Given the description of an element on the screen output the (x, y) to click on. 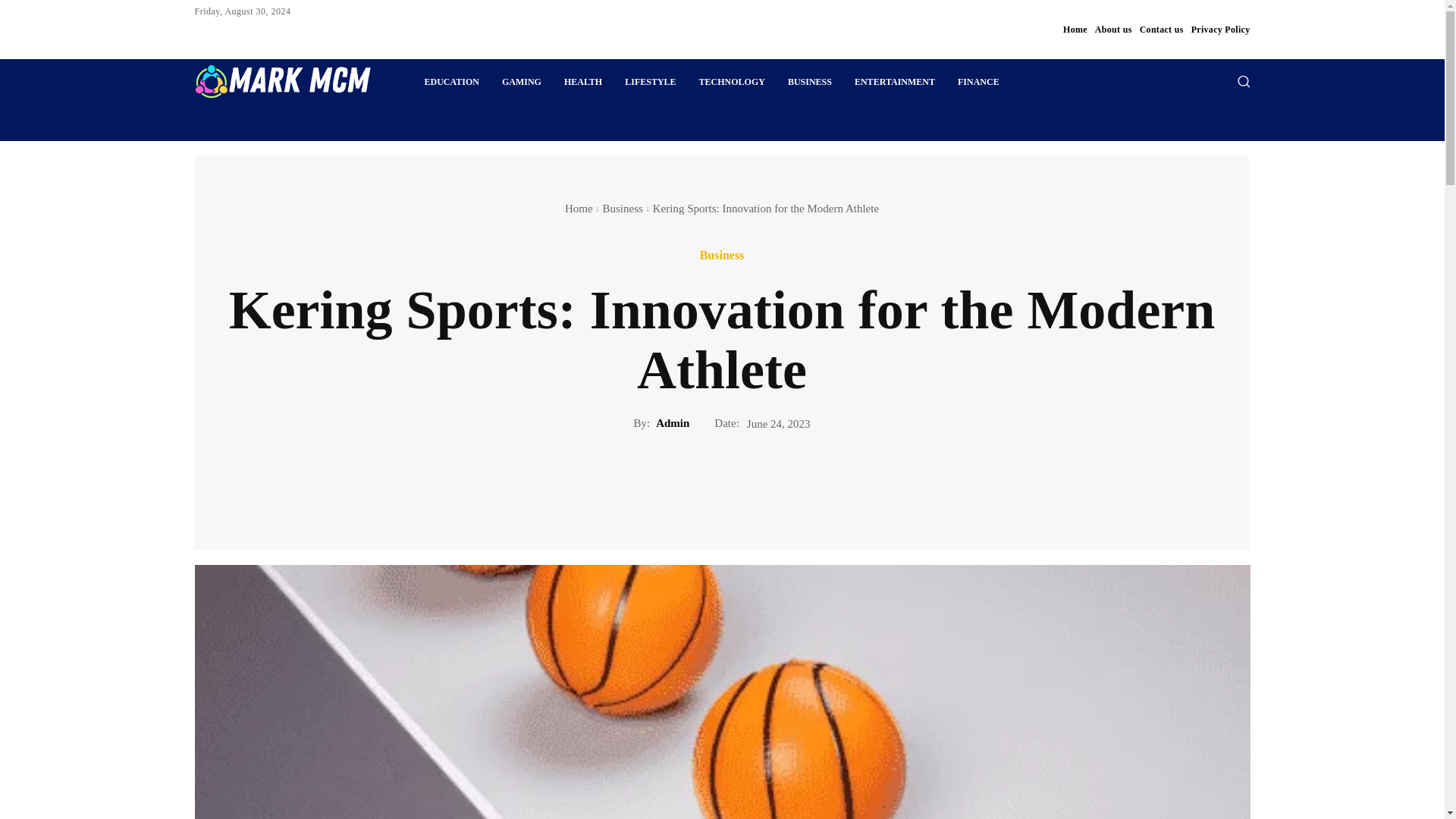
HEALTH (582, 81)
GAMING (521, 81)
LIFESTYLE (649, 81)
Home (1074, 29)
About us (1113, 29)
View all posts in Business (622, 208)
EDUCATION (450, 81)
ENTERTAINMENT (894, 81)
Privacy Policy (1220, 29)
Contact us (1161, 29)
